Given the description of an element on the screen output the (x, y) to click on. 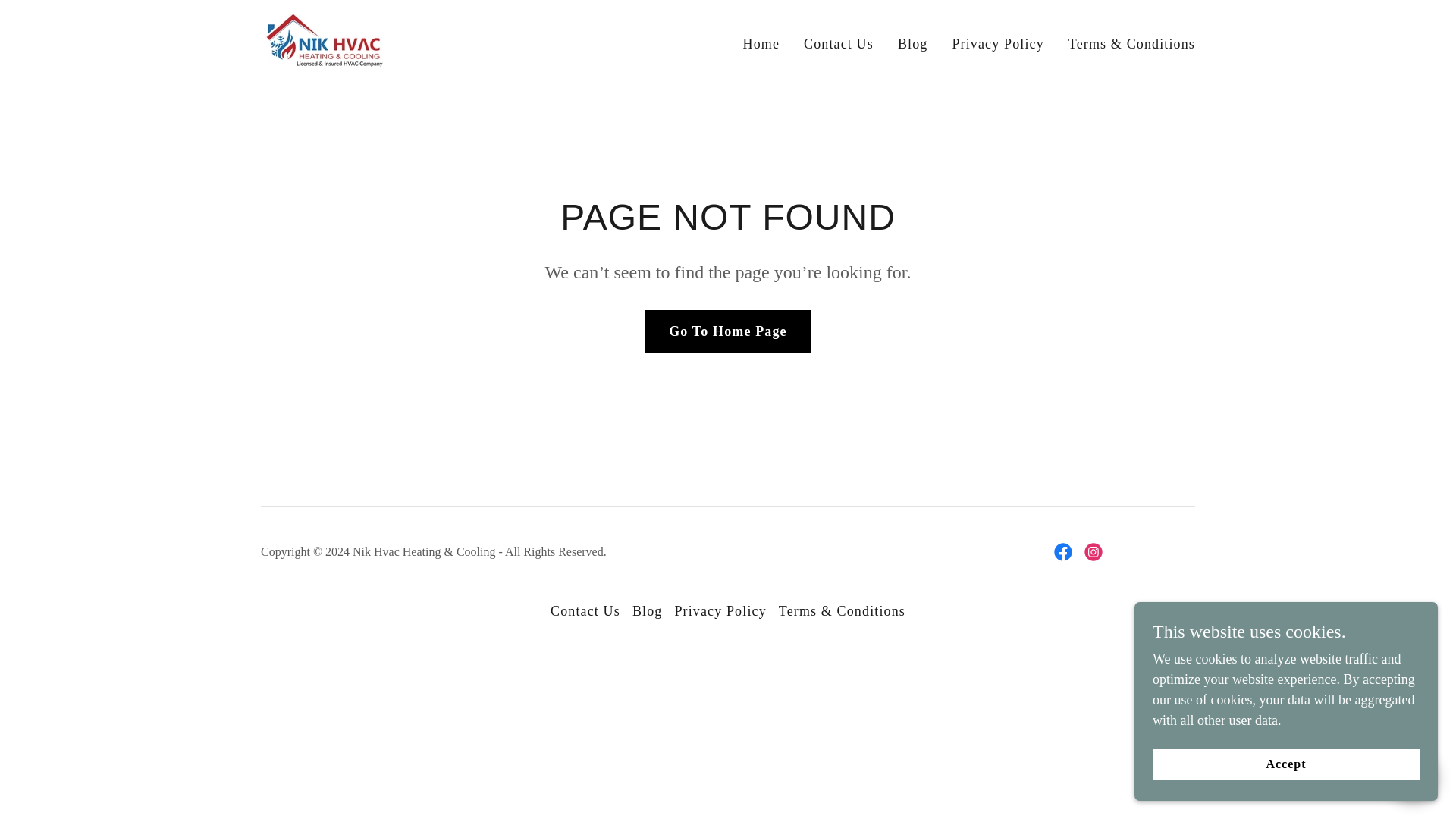
Nik Heating n Cooling  (325, 40)
Contact Us (838, 43)
Blog (647, 611)
Go To Home Page (727, 331)
Accept (1286, 764)
Blog (913, 43)
Privacy Policy (719, 611)
Home (761, 43)
Contact Us (585, 611)
Privacy Policy (997, 43)
